Given the description of an element on the screen output the (x, y) to click on. 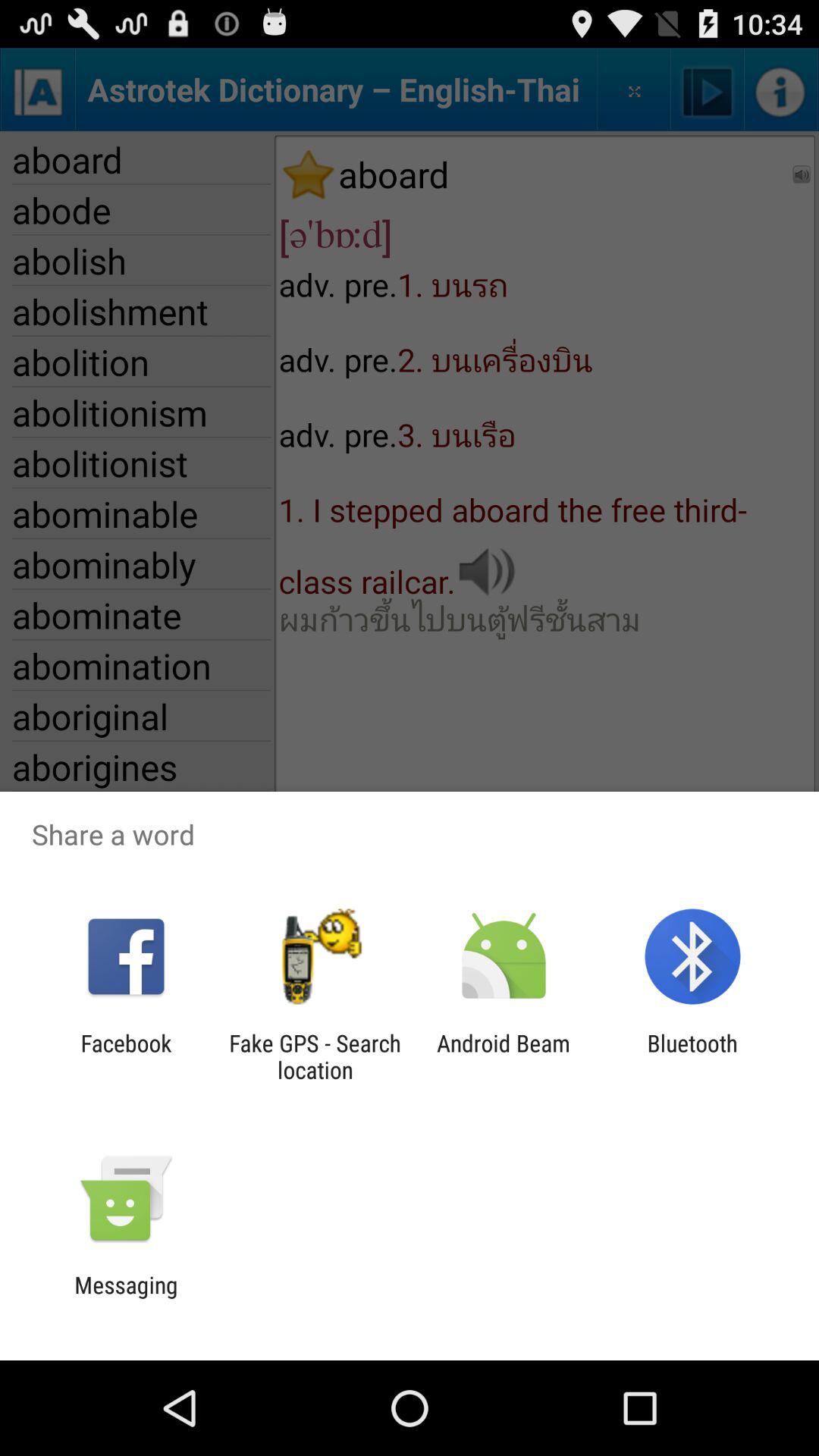
open the facebook app (125, 1056)
